Given the description of an element on the screen output the (x, y) to click on. 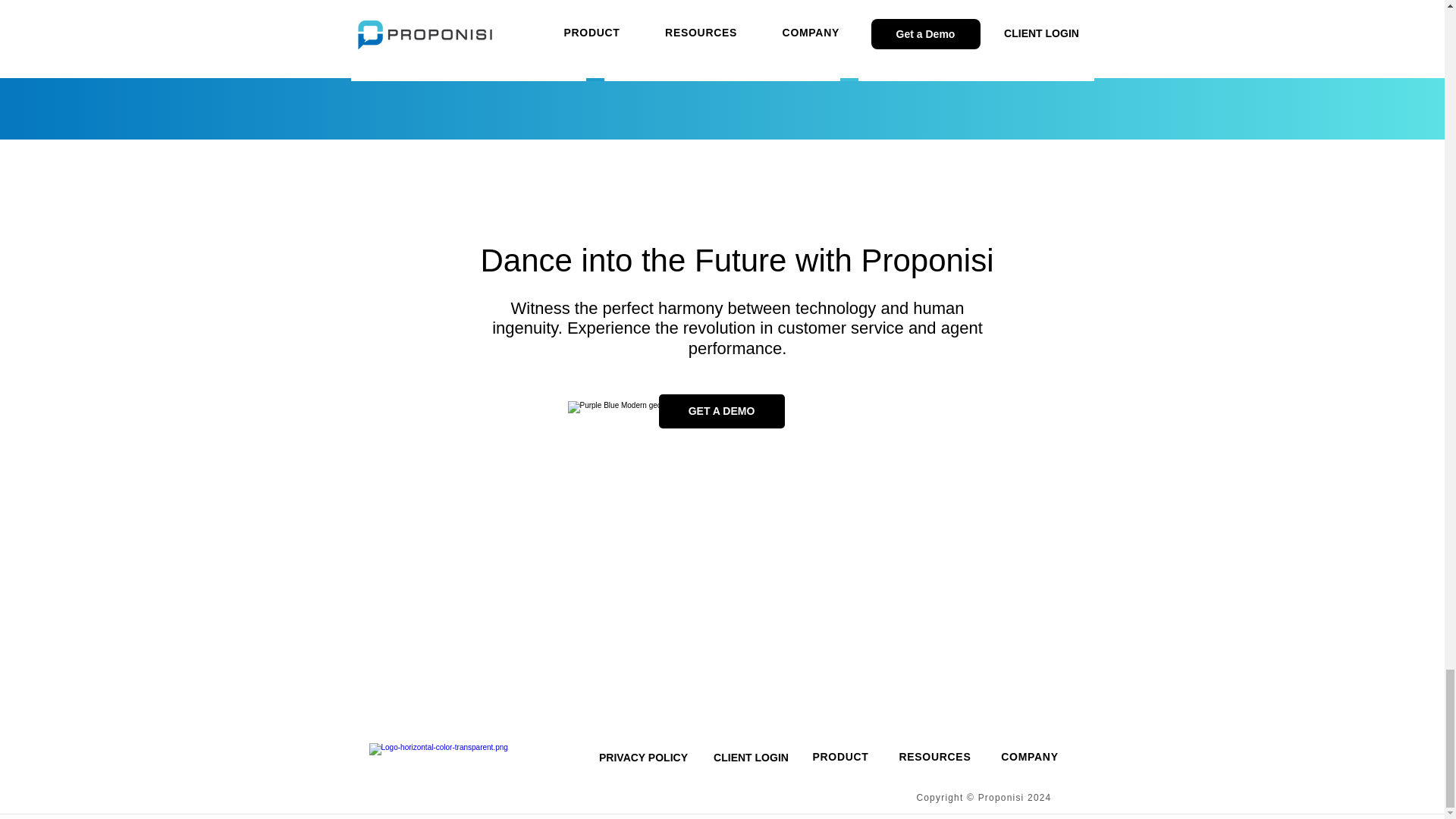
PRIVACY POLICY (643, 757)
GET A DEMO (721, 410)
CLIENT LOGIN (751, 757)
